Given the description of an element on the screen output the (x, y) to click on. 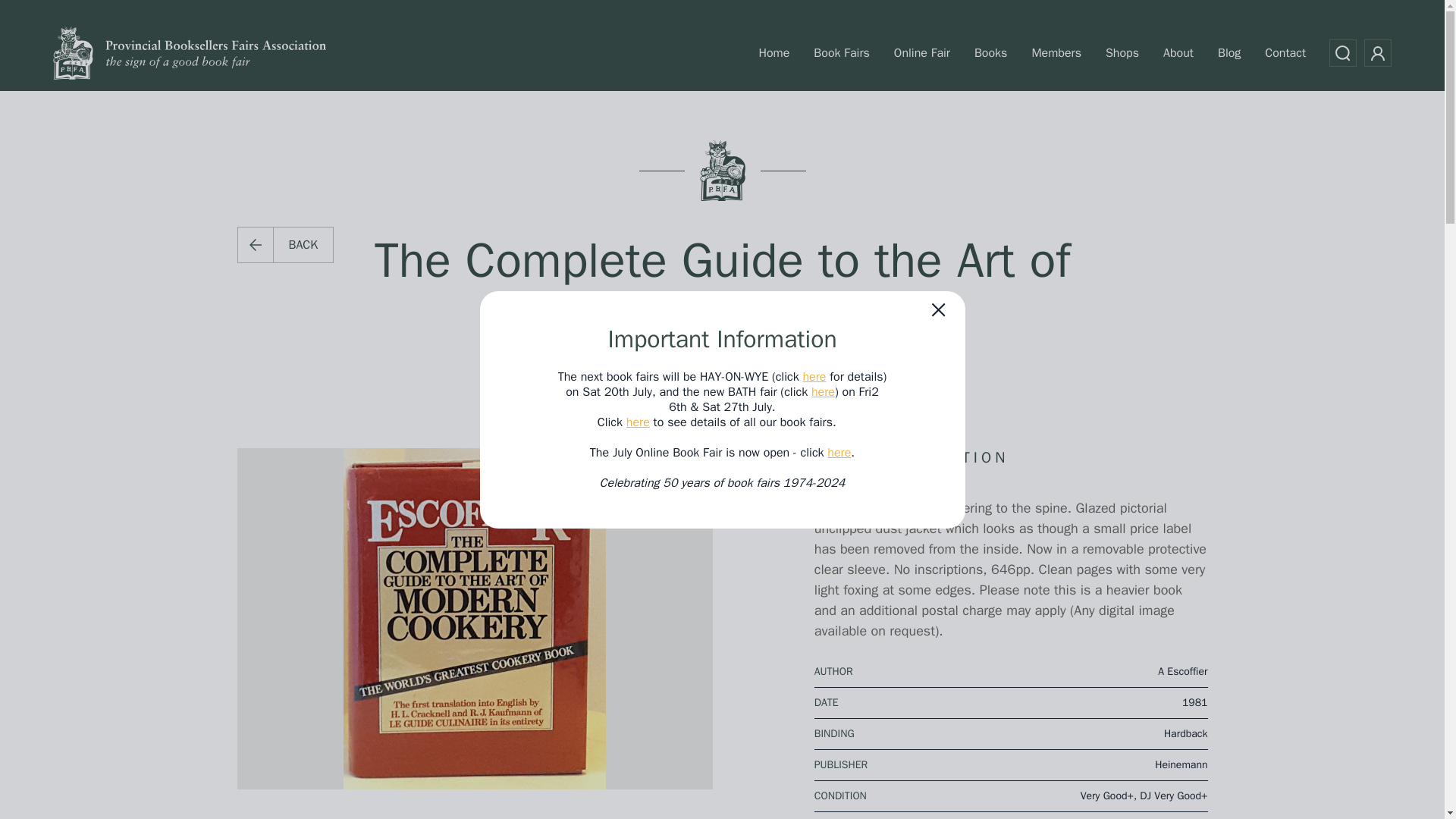
Shops (1122, 52)
Home Page (189, 52)
Back to all books (284, 244)
Home (773, 52)
here (822, 391)
Blog (1229, 52)
Contact (1285, 52)
Book Fairs (841, 52)
here (813, 376)
here (637, 421)
Online Fair (921, 52)
BACK (284, 244)
About (1178, 52)
Books (990, 52)
here (838, 451)
